Given the description of an element on the screen output the (x, y) to click on. 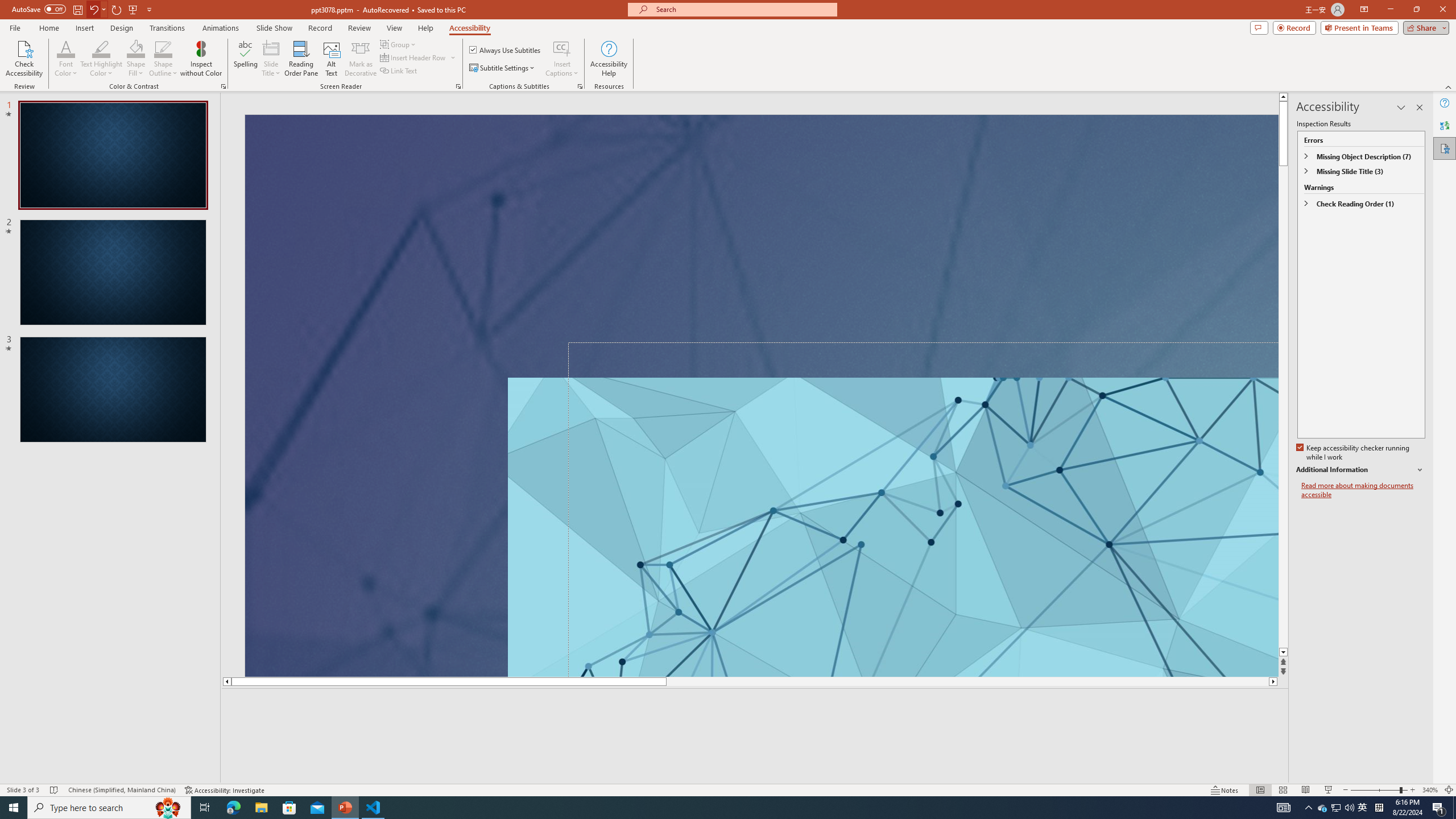
Always Use Subtitles (505, 49)
Color & Contrast (223, 85)
An abstract genetic concept (761, 395)
